Given the description of an element on the screen output the (x, y) to click on. 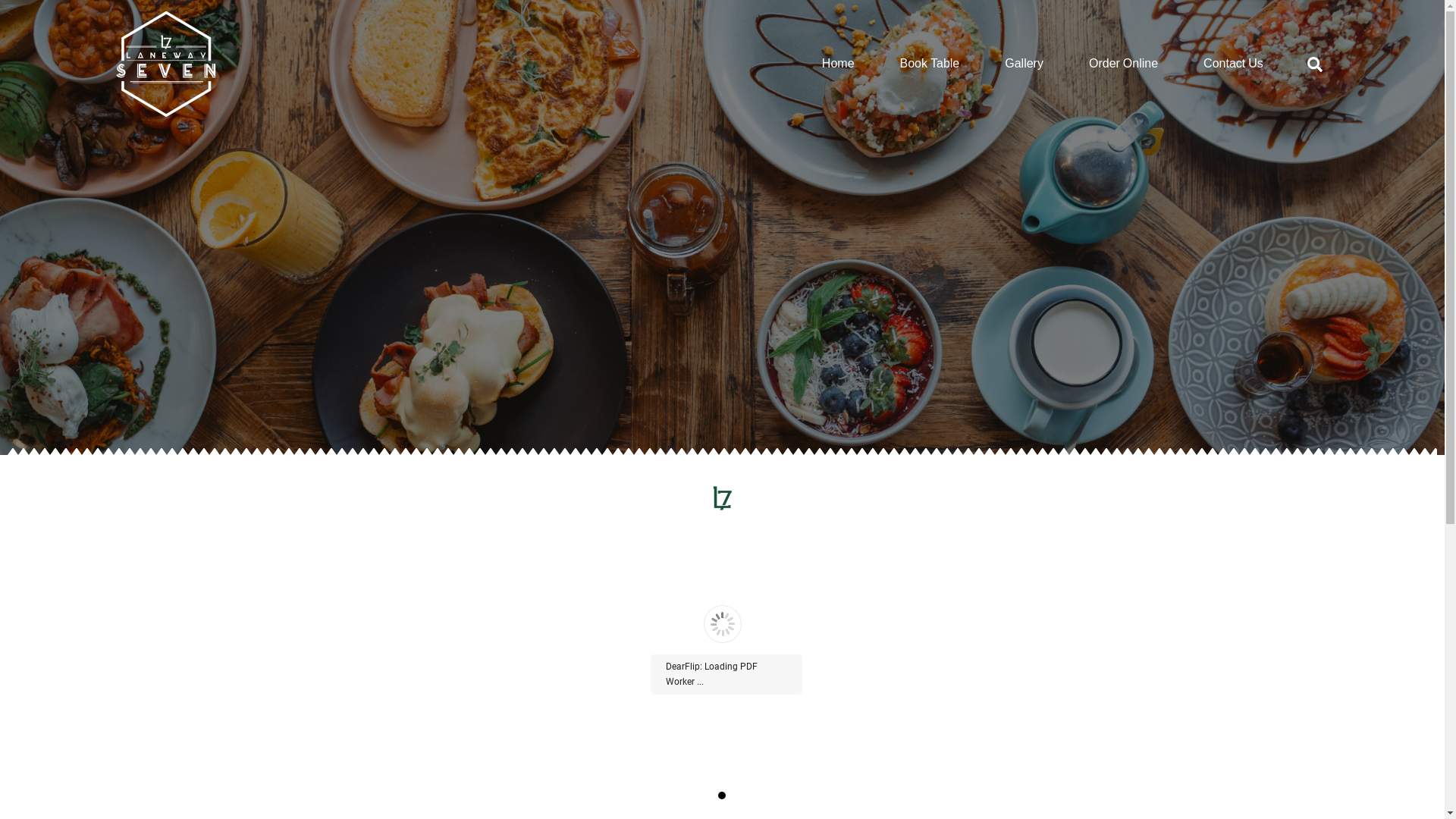
Gallery Element type: text (1024, 64)
Contact Us Element type: text (1233, 64)
Order Online Element type: text (1123, 64)
Home Element type: text (838, 64)
Book Table Element type: text (929, 64)
